Given the description of an element on the screen output the (x, y) to click on. 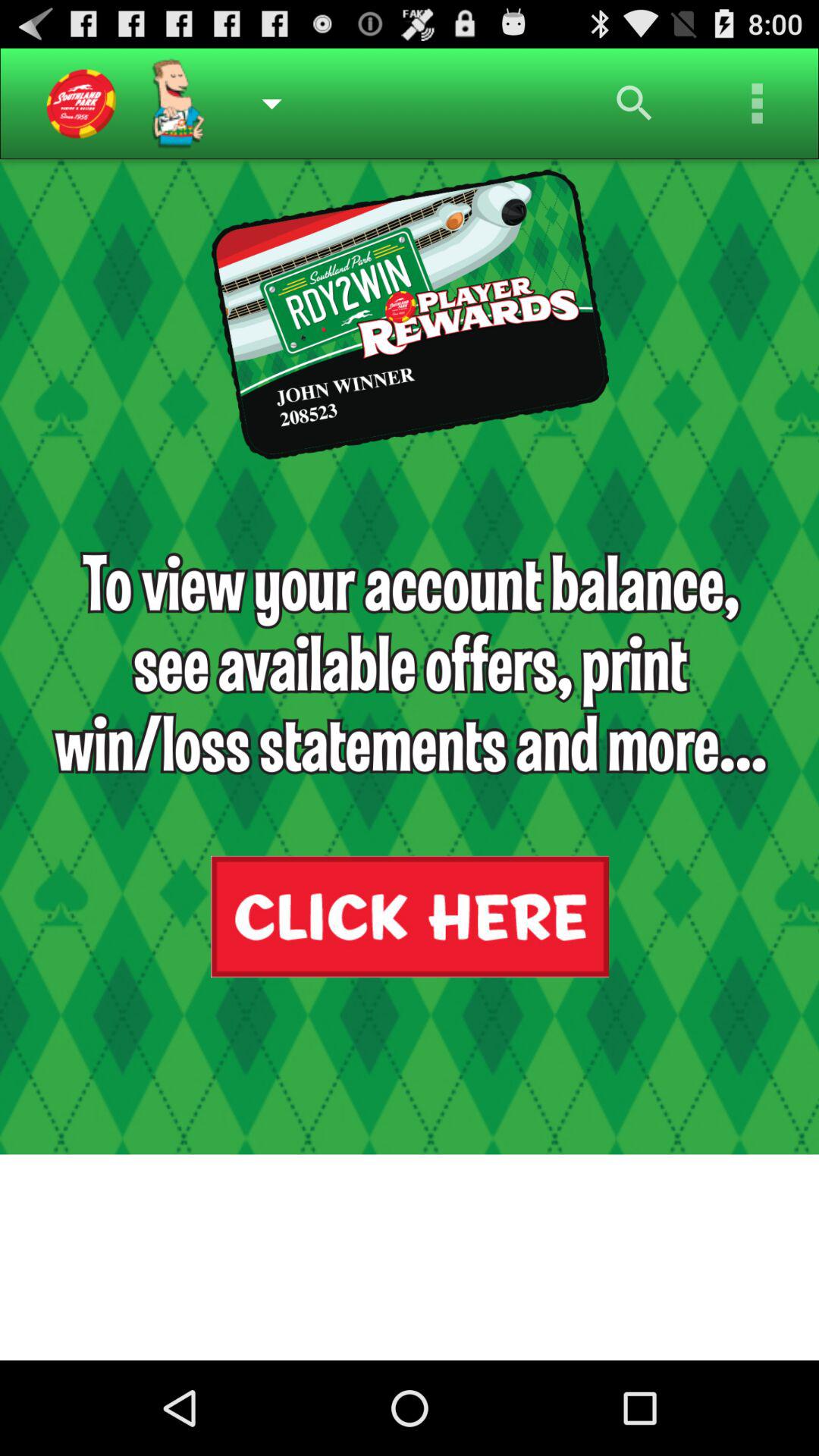
open the menu (757, 103)
